Given the description of an element on the screen output the (x, y) to click on. 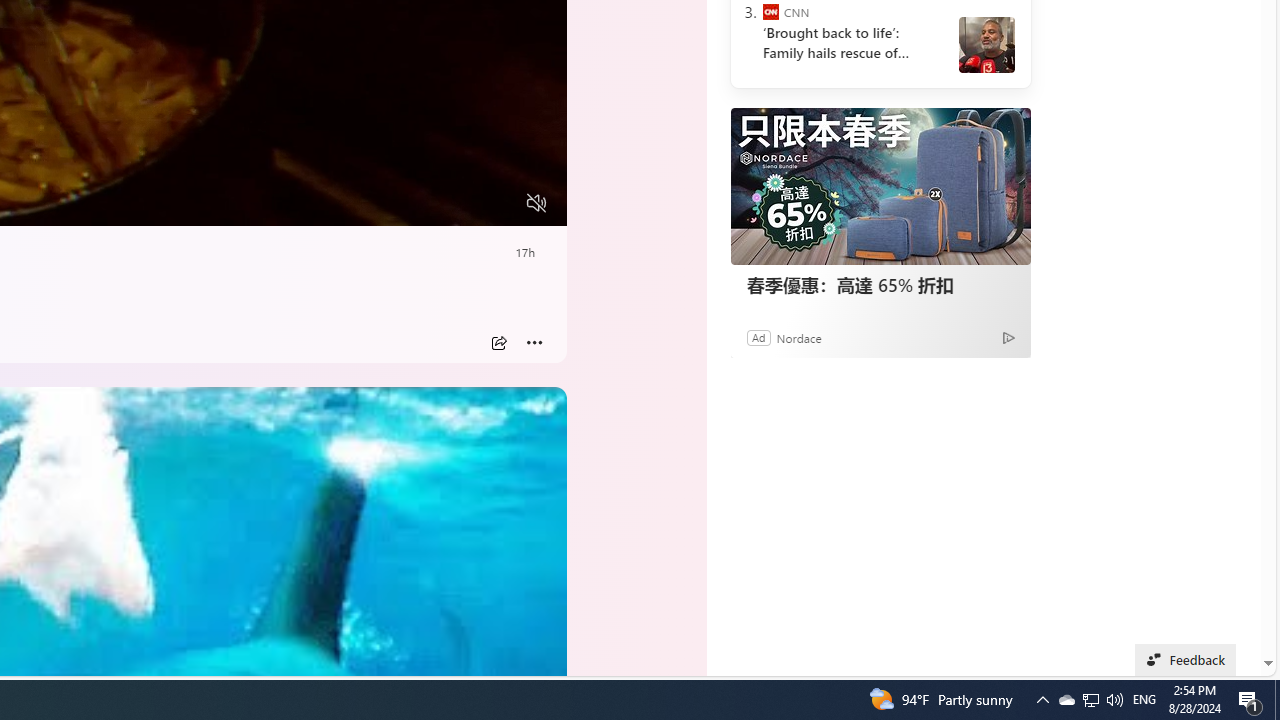
Share (498, 343)
Captions (457, 203)
CNN (770, 12)
Share (498, 343)
